Given the description of an element on the screen output the (x, y) to click on. 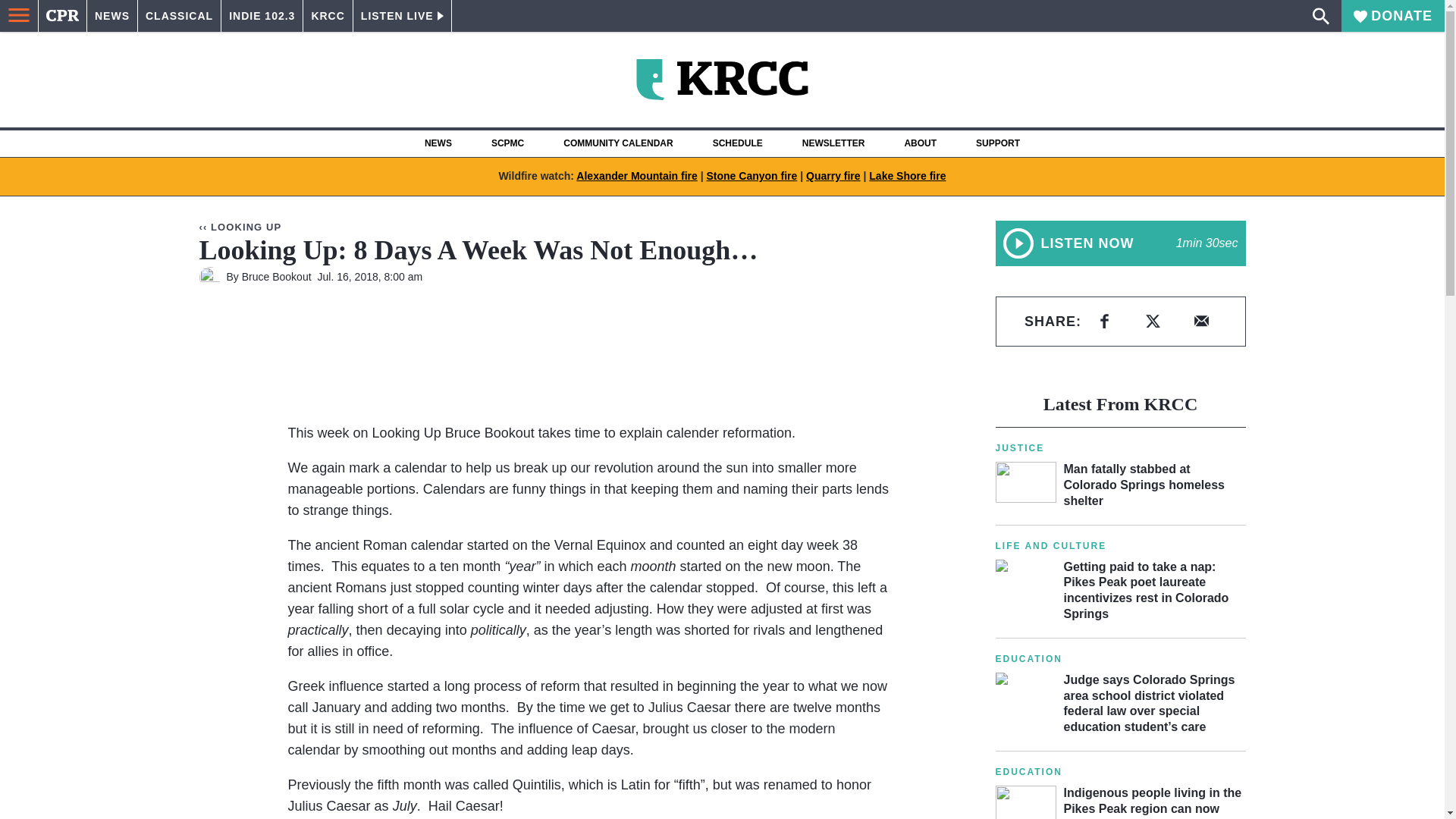
LISTEN LIVE (402, 15)
KRCC (327, 15)
NEWS (111, 15)
CLASSICAL (179, 15)
INDIE 102.3 (261, 15)
